Given the description of an element on the screen output the (x, y) to click on. 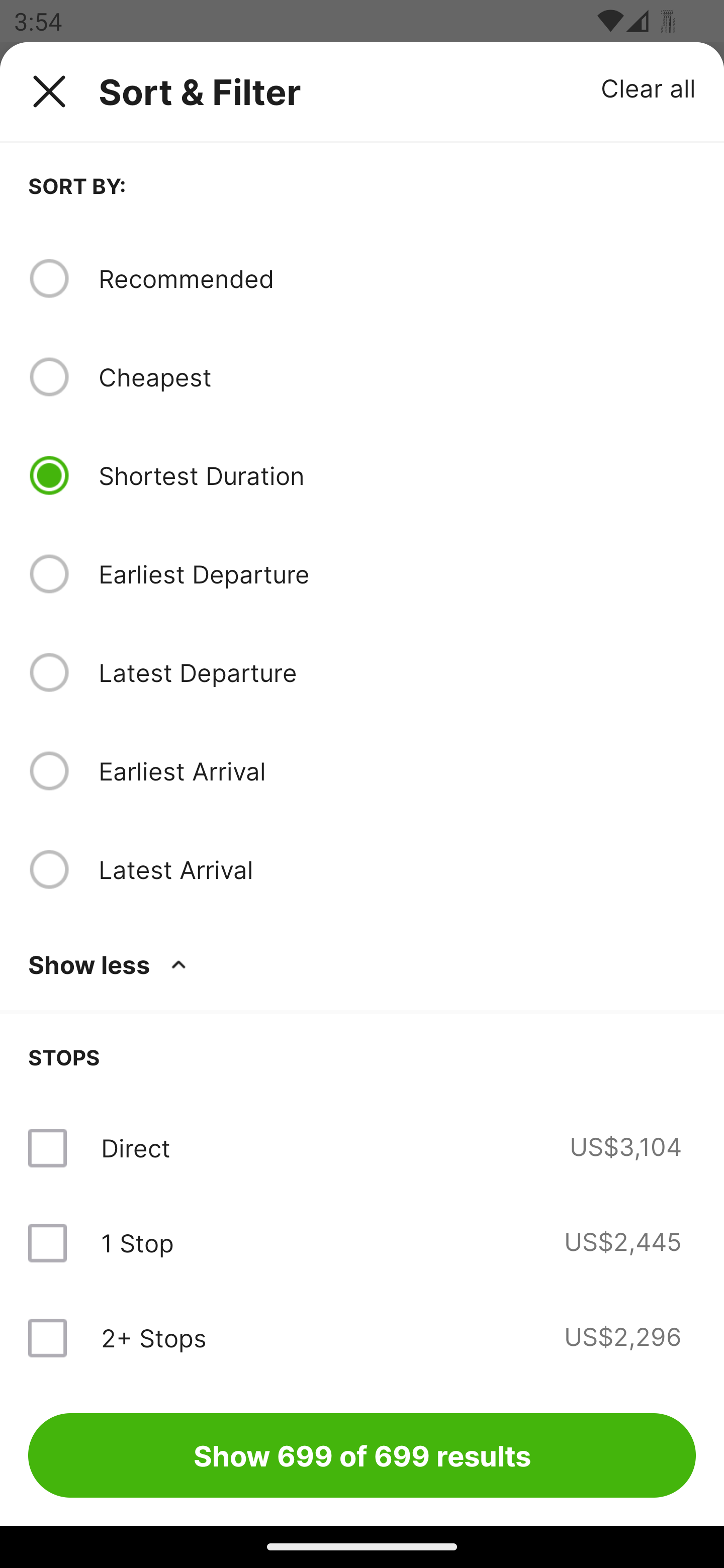
Clear all (648, 87)
Recommended  (396, 278)
Cheapest (396, 377)
Shortest Duration (396, 474)
Earliest Departure (396, 573)
Latest Departure (396, 672)
Earliest Arrival (396, 770)
Latest Arrival (396, 869)
Show less (110, 964)
Direct US$3,104 (362, 1147)
Direct (135, 1147)
1 Stop US$2,445 (362, 1242)
1 Stop (136, 1242)
2+ Stops US$2,296 (362, 1337)
2+ Stops (153, 1337)
Show 699 of 699 results (361, 1454)
